Given the description of an element on the screen output the (x, y) to click on. 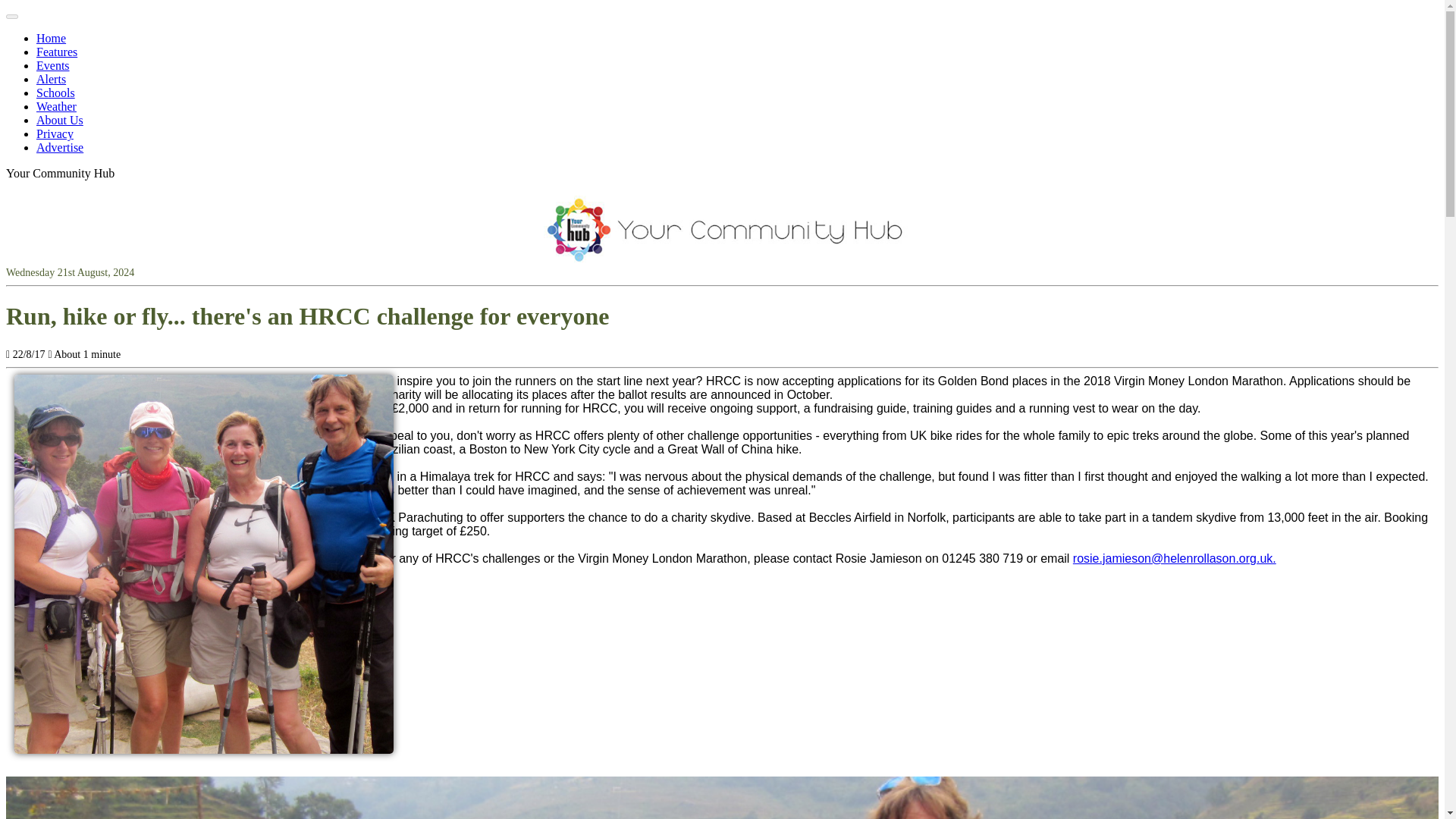
Events (52, 65)
Advertise (59, 146)
Weather (56, 106)
Features (56, 51)
Home (50, 38)
Schools (55, 92)
Privacy (55, 133)
Alerts (50, 78)
About Us (59, 119)
